Given the description of an element on the screen output the (x, y) to click on. 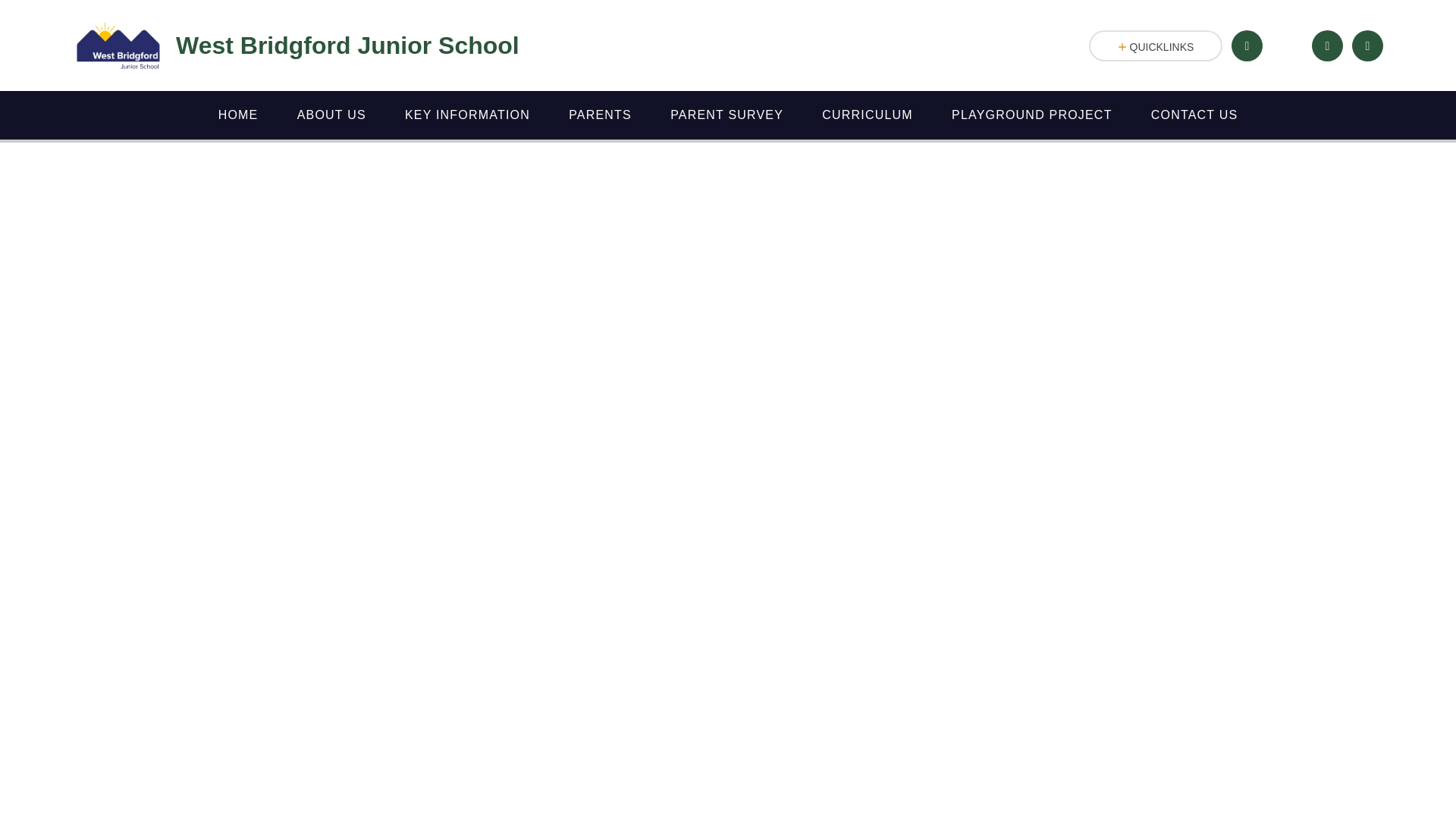
ABOUT US (331, 114)
West Bridgford Junior School (295, 45)
PARENTS (600, 114)
KEY INFORMATION (466, 114)
HOME (238, 114)
